Given the description of an element on the screen output the (x, y) to click on. 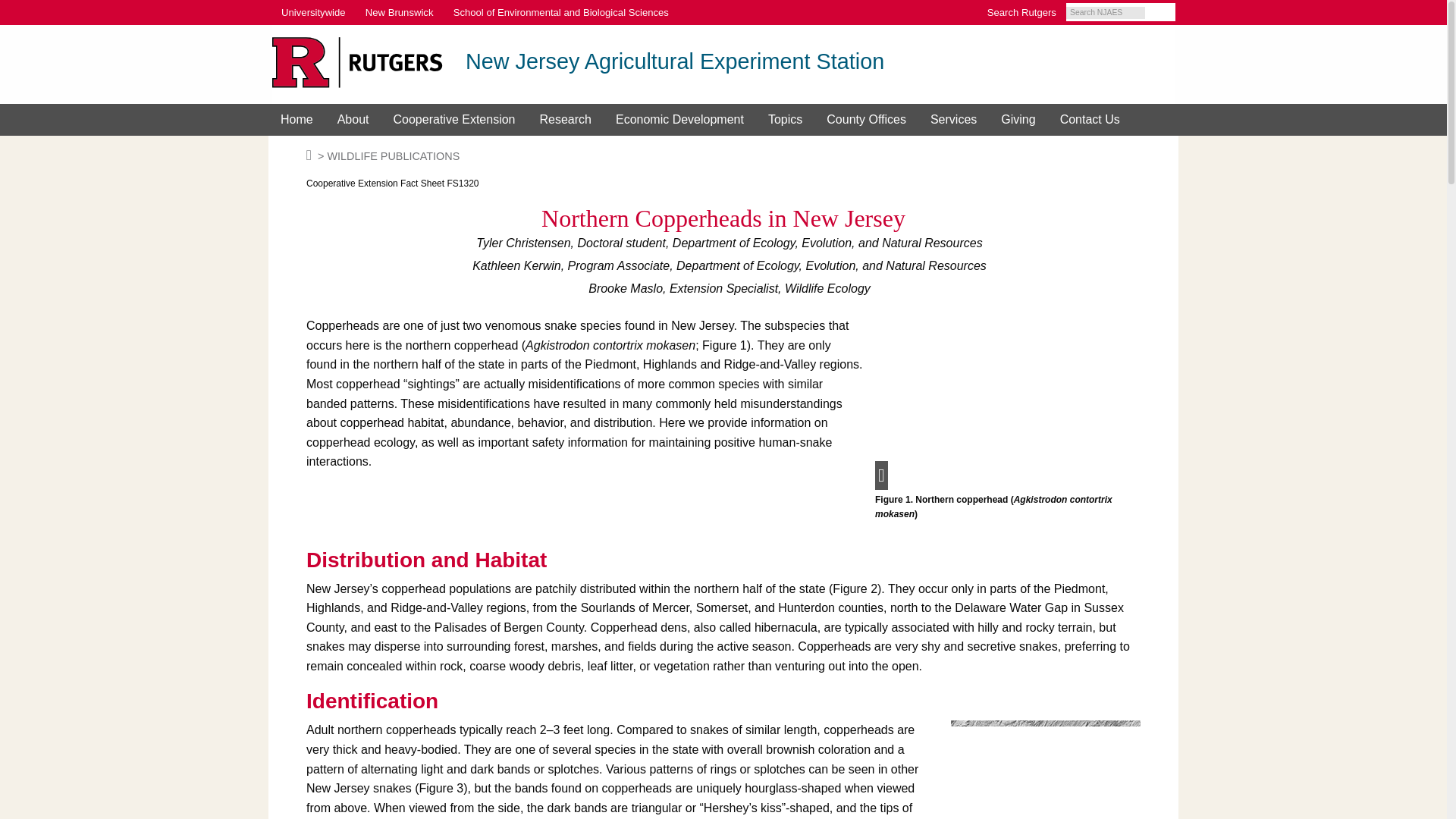
Research (564, 119)
Topics (784, 119)
Universitywide (312, 12)
About (352, 119)
Search (1166, 13)
Services (953, 119)
School of Environmental and Biological Sciences (561, 12)
Economic Development (679, 119)
Cooperative Extension (453, 119)
Search Rutgers (1020, 12)
